Given the description of an element on the screen output the (x, y) to click on. 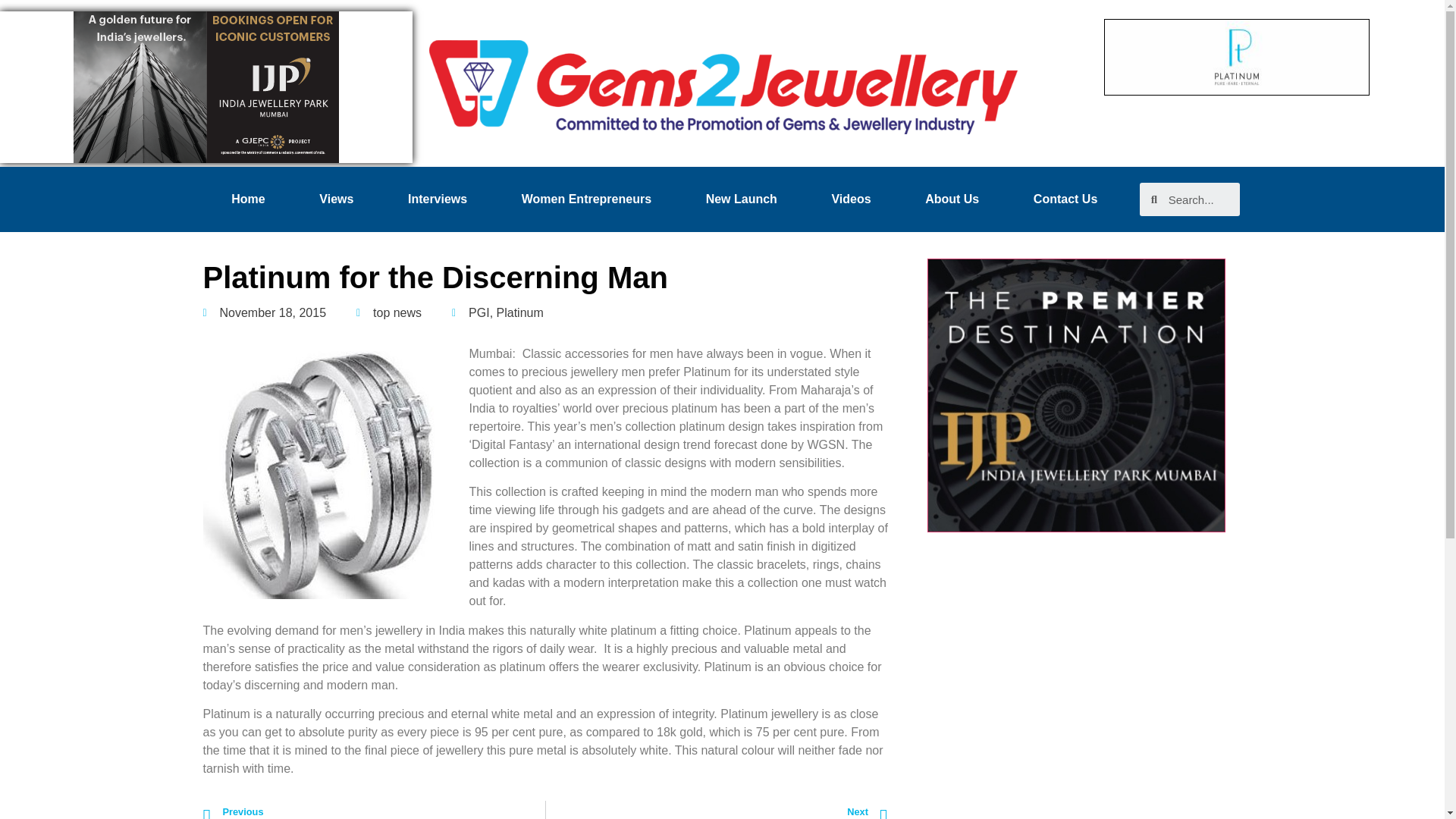
Search (1198, 199)
PGI (478, 312)
Platinum (519, 312)
About Us (952, 199)
Contact Us (1065, 199)
Videos (851, 199)
Views (336, 199)
Home (248, 199)
New Launch (741, 199)
Women Entrepreneurs (717, 809)
top news (373, 809)
Interviews (586, 199)
November 18, 2015 (397, 312)
